Given the description of an element on the screen output the (x, y) to click on. 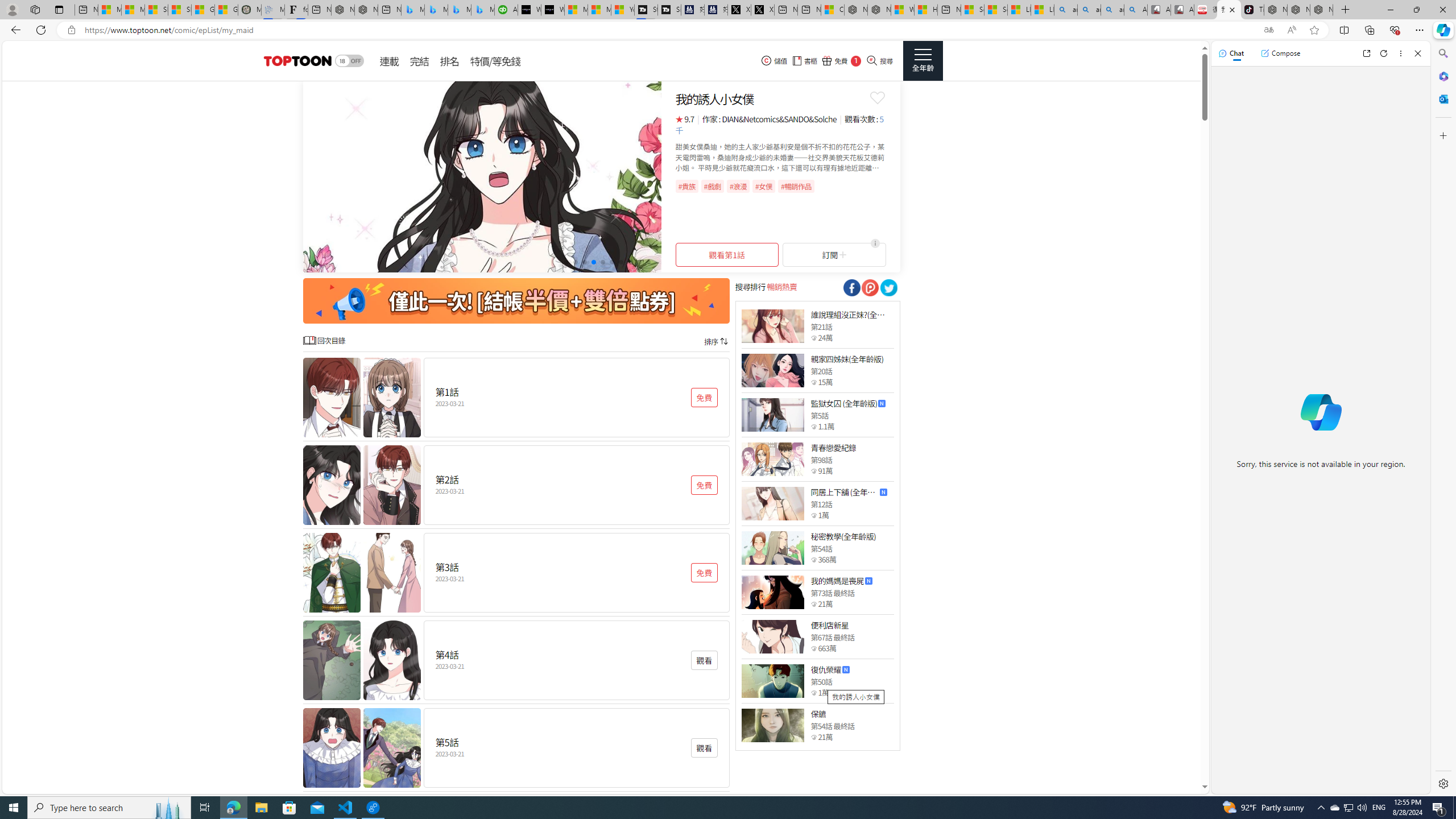
Class: swiper-slide swiper-slide-active (481, 176)
All Cubot phones (1182, 9)
Wildlife - MSN (902, 9)
Microsoft Bing Travel - Shangri-La Hotel Bangkok (482, 9)
Go to slide 6 (611, 261)
Nordace - Siena Pro 15 Essential Set (1321, 9)
Address and search bar (669, 29)
Go to slide 2 (575, 261)
